Given the description of an element on the screen output the (x, y) to click on. 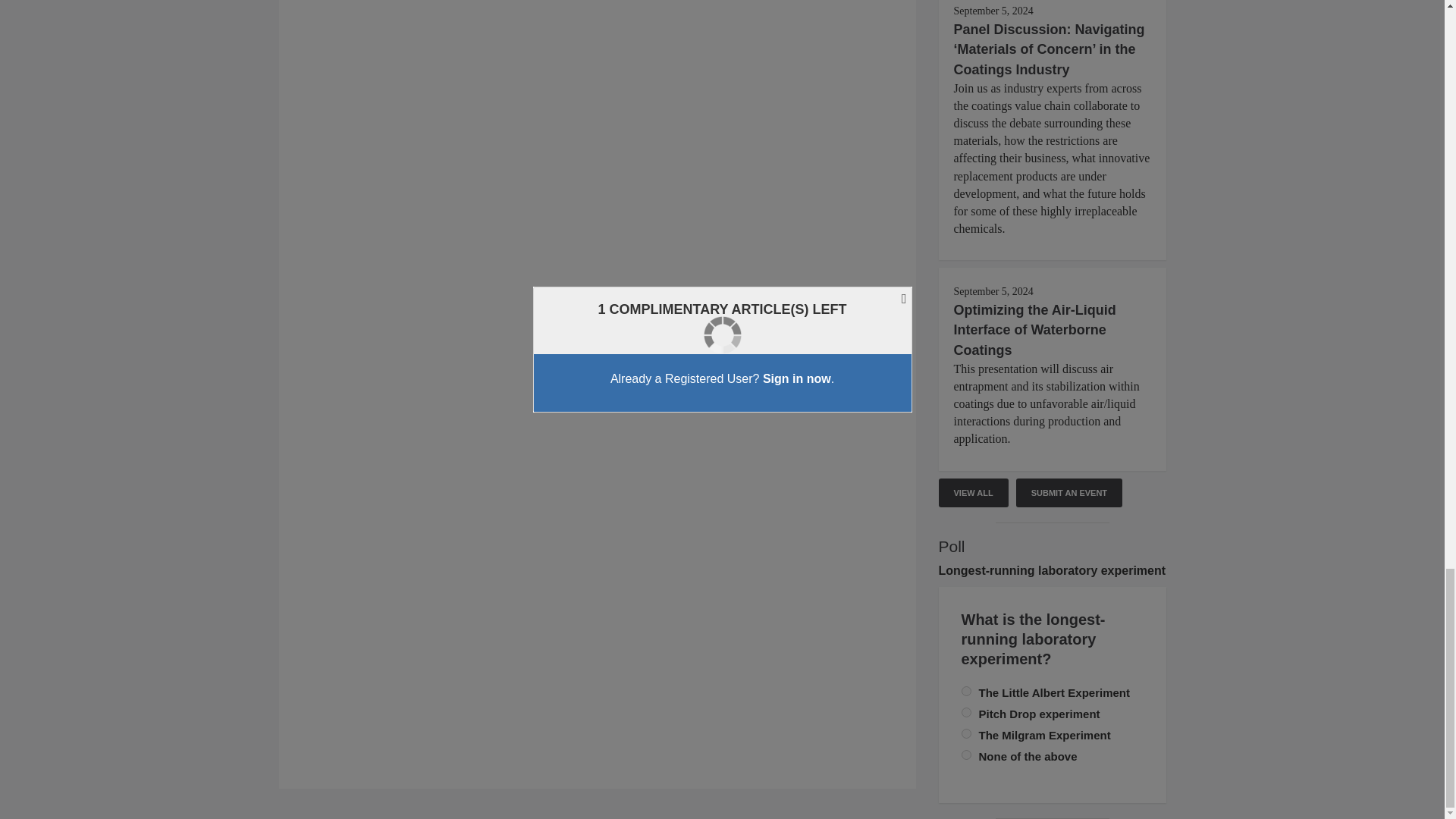
233 (965, 691)
230 (965, 712)
232 (965, 733)
231 (965, 755)
Optimizing the Air-Liquid Interface of Waterborne Coatings (1034, 329)
